Given the description of an element on the screen output the (x, y) to click on. 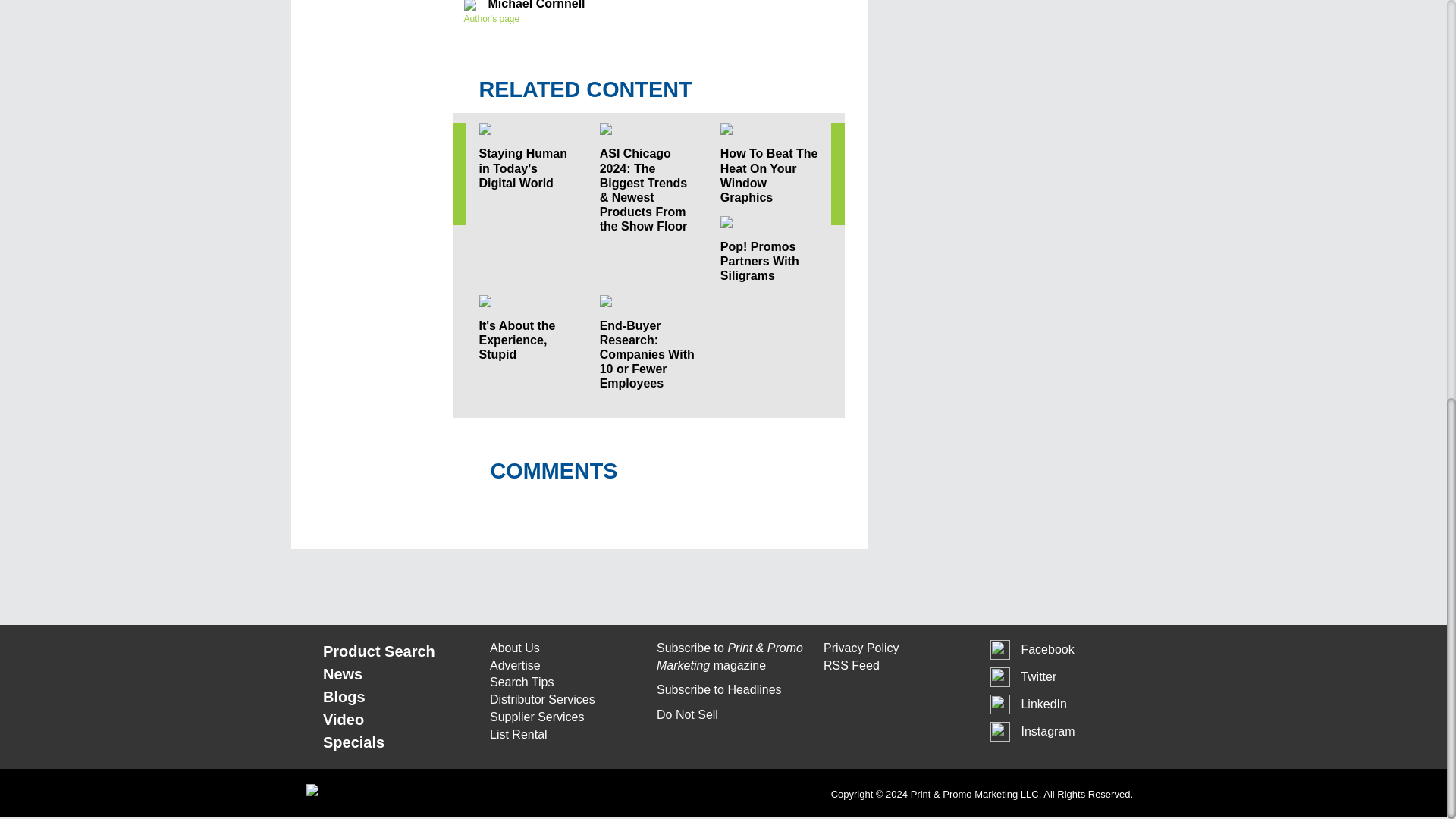
NAPCO Media (975, 794)
